Given the description of an element on the screen output the (x, y) to click on. 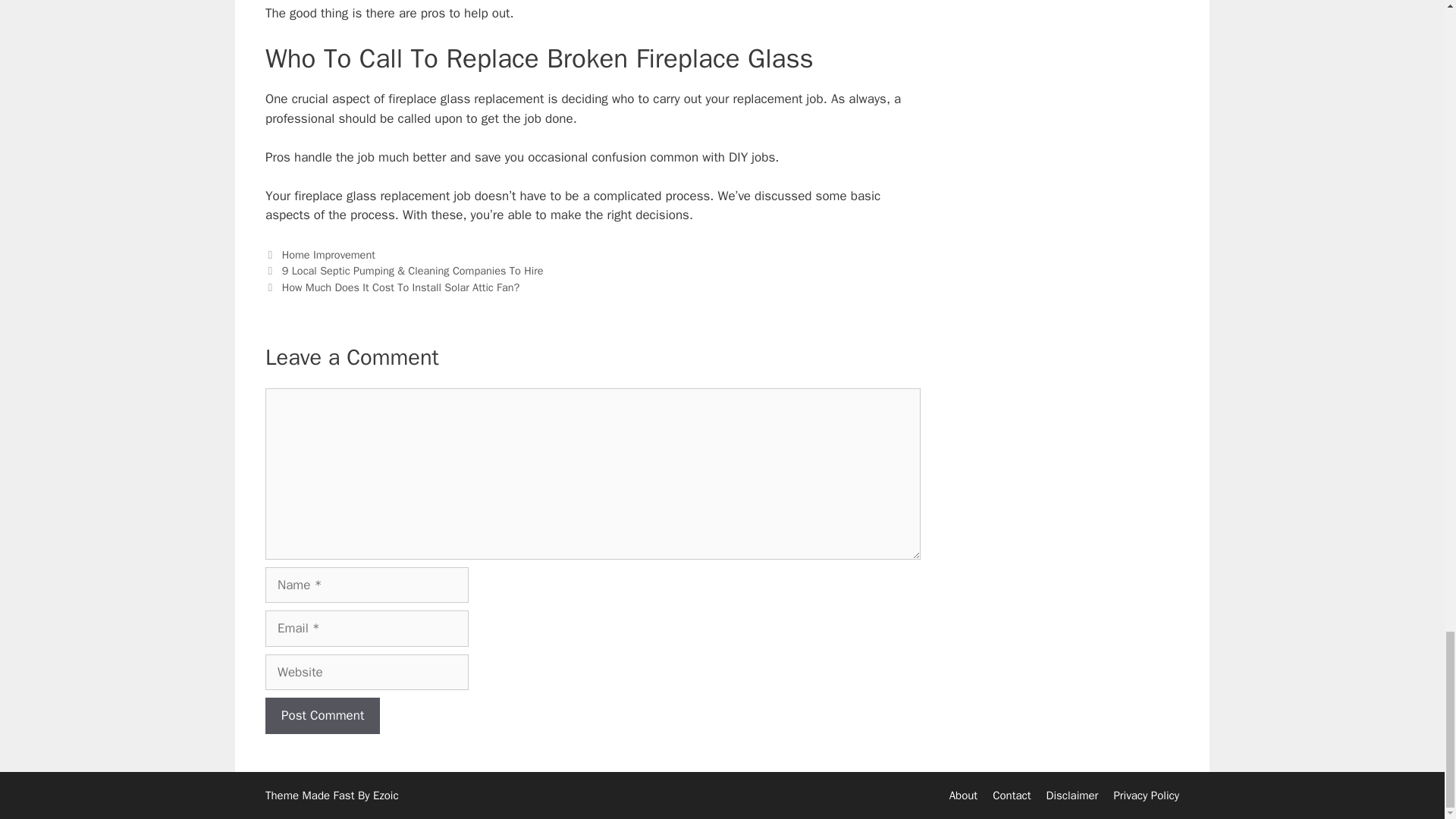
Home Improvement (328, 254)
Post Comment (322, 715)
